Given the description of an element on the screen output the (x, y) to click on. 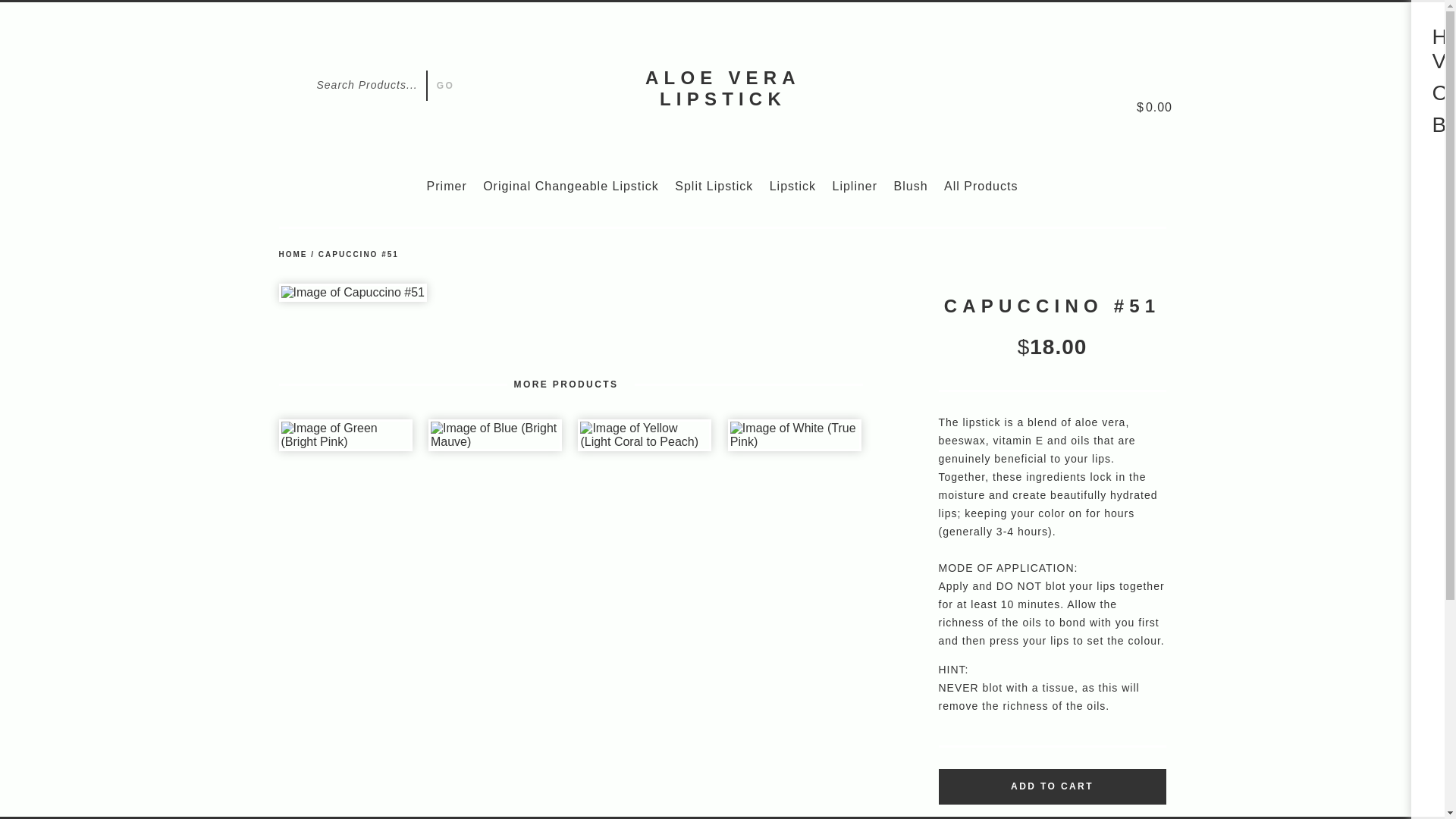
Original Changeable Lipstick (571, 185)
Menu (1410, 42)
All Products (980, 185)
Primer (446, 185)
Split Lipstick (713, 185)
View Lipstick (792, 185)
Aloe Vera Lipstick (722, 88)
Blush (910, 185)
HOME (293, 254)
ADD TO CART (1052, 786)
View Original Changeable Lipstick (571, 185)
Lipstick (792, 185)
View Lipliner (854, 185)
View Split Lipstick (713, 185)
GO (443, 85)
